Given the description of an element on the screen output the (x, y) to click on. 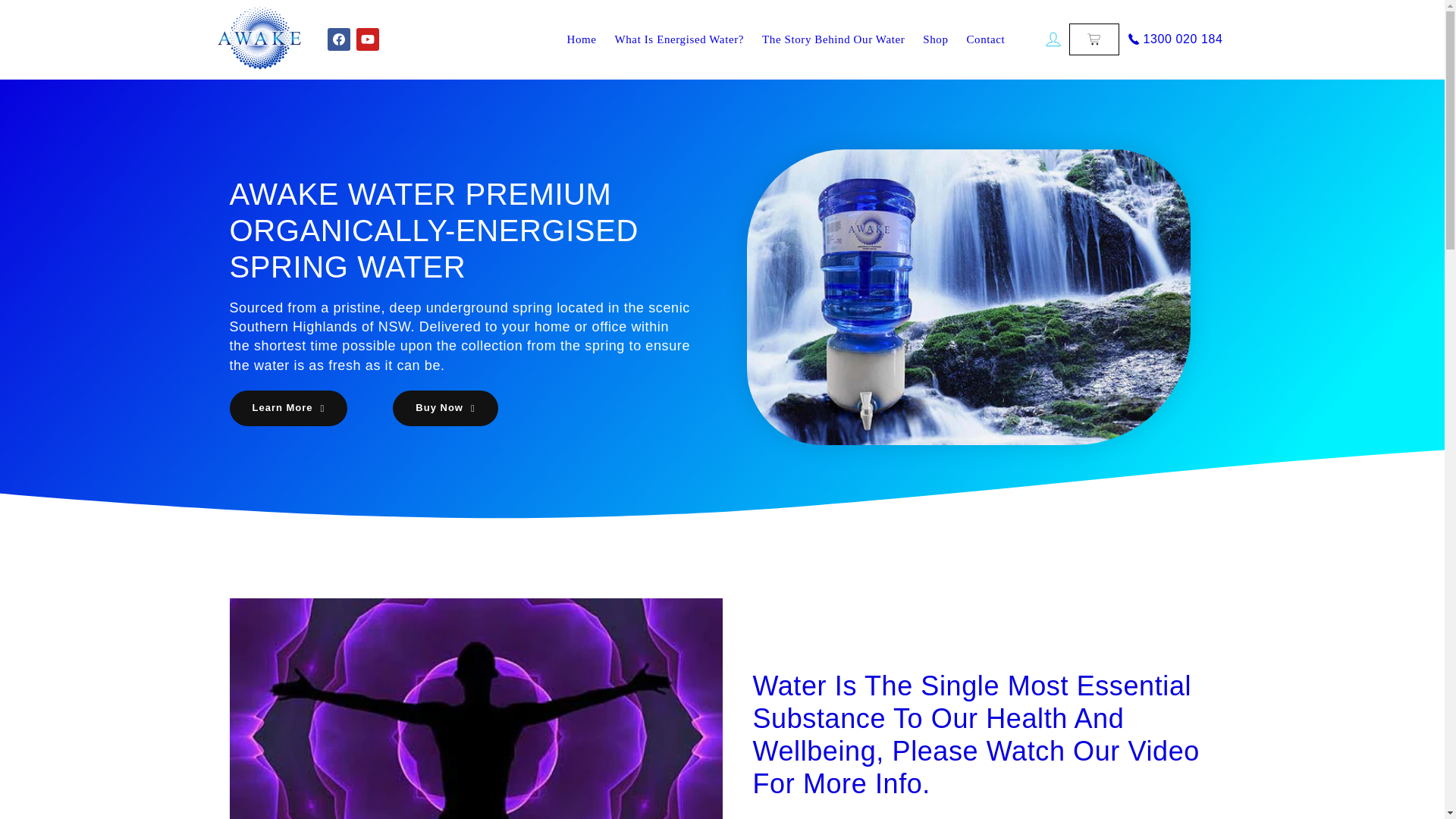
Log in (1053, 39)
Learn More (287, 407)
Contact (986, 39)
The Story Behind Our Water (833, 39)
1300 020 184 (1173, 39)
What Is Energised Water? (679, 39)
Cart (1093, 39)
Home (581, 39)
Shop (935, 39)
Buy Now (445, 407)
